Given the description of an element on the screen output the (x, y) to click on. 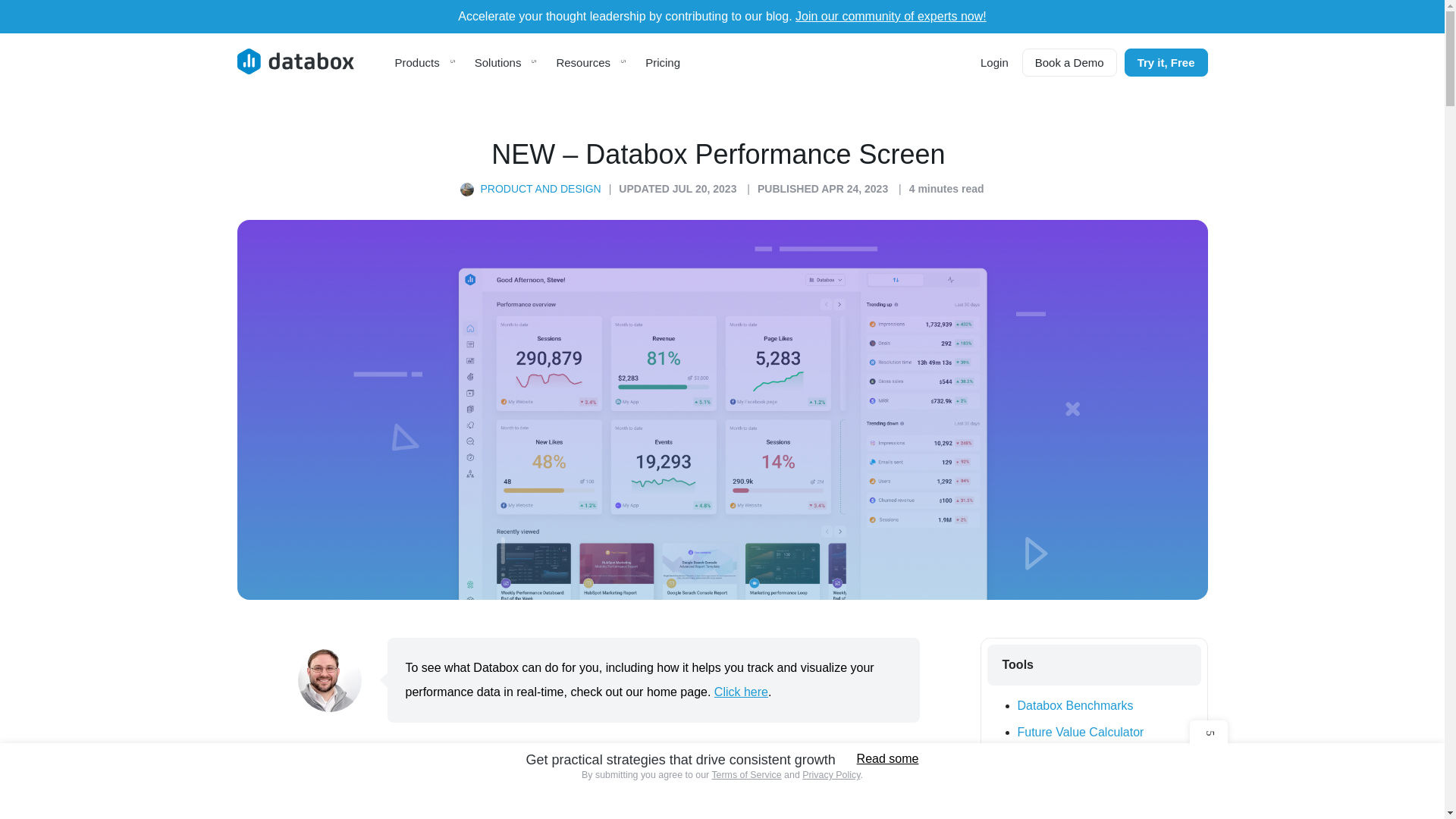
Resources (592, 62)
Products (425, 62)
Join our community of experts now! (890, 15)
Solutions (507, 62)
